Given the description of an element on the screen output the (x, y) to click on. 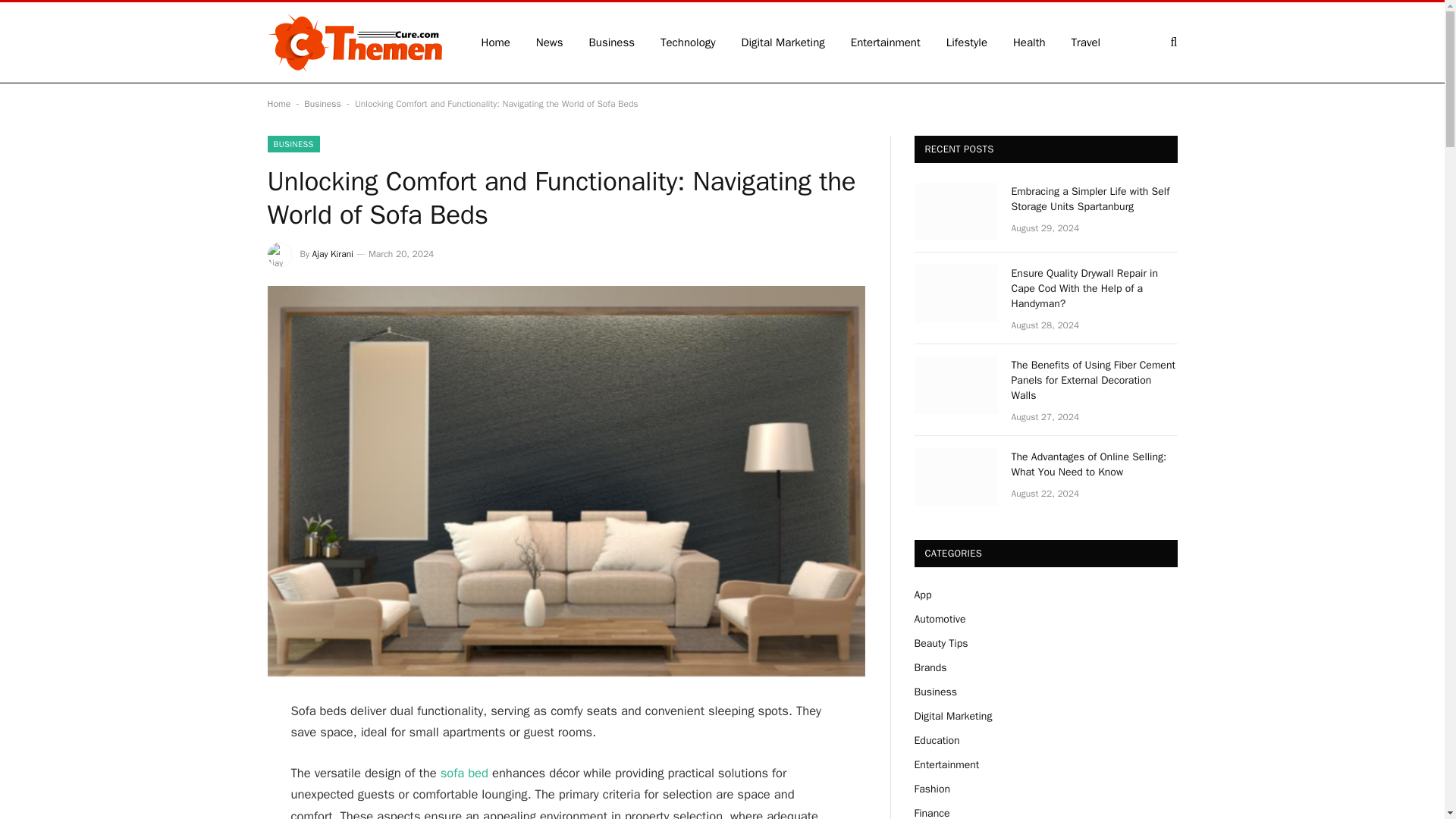
sofa bed (464, 772)
App (922, 594)
Ajay Kirani (333, 254)
Business (611, 42)
Embracing a Simpler Life with Self Storage Units Spartanburg (955, 211)
Digital Marketing (783, 42)
Technology (688, 42)
The Advantages of Online Selling: What You Need to Know (1094, 464)
